Given the description of an element on the screen output the (x, y) to click on. 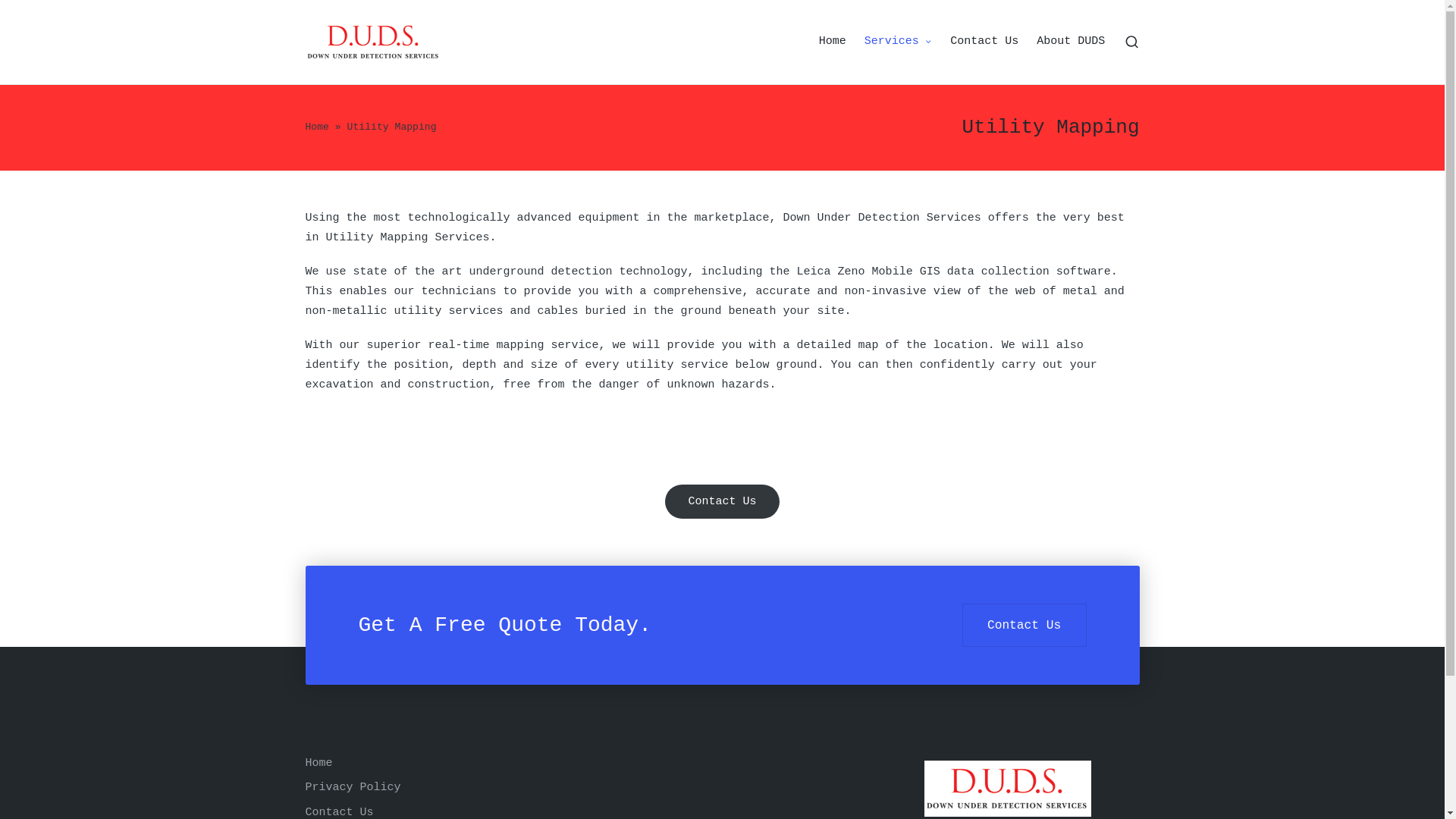
Services Element type: text (898, 41)
Home Element type: text (316, 126)
Contact Us Element type: text (984, 41)
Home Element type: text (318, 762)
About DUDS Element type: text (1070, 41)
Home Element type: text (832, 41)
Contact Us Element type: text (1024, 624)
Privacy Policy Element type: text (352, 787)
Contact Us Element type: text (721, 501)
